Given the description of an element on the screen output the (x, y) to click on. 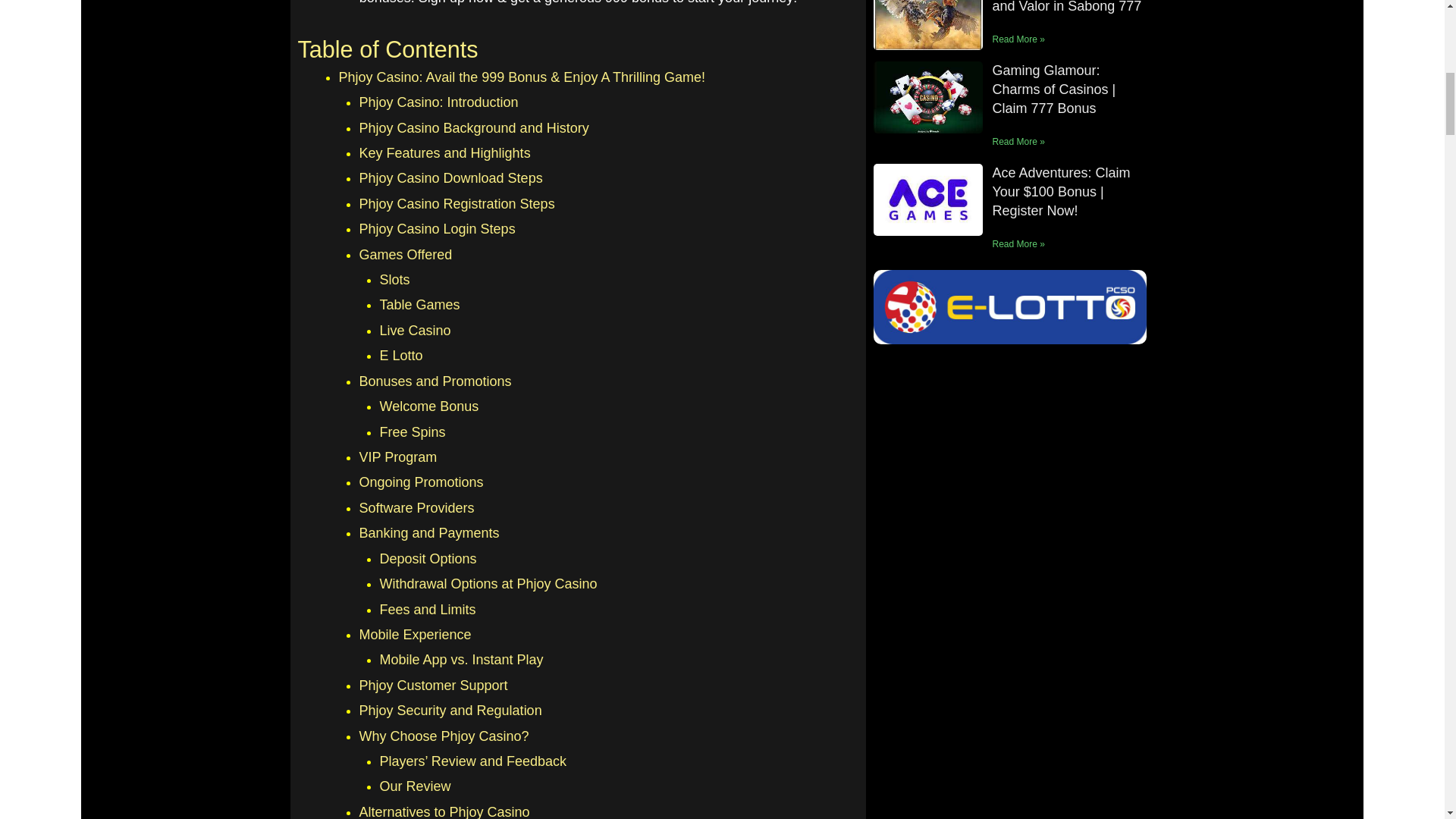
Free Spins (411, 432)
Fees and Limits (427, 609)
Phjoy Casino Download Steps (451, 177)
Software Providers (416, 507)
Phjoy Customer Support (433, 685)
Why Choose Phjoy Casino? (444, 735)
Our Review (413, 785)
Table Games (419, 304)
Deposit Options (427, 558)
Alternatives to Phjoy Casino (444, 811)
VIP Program (398, 457)
Phjoy Casino Registration Steps (456, 203)
Welcome Bonus (428, 406)
Ongoing Promotions (421, 482)
Mobile App vs. Instant Play (460, 659)
